Given the description of an element on the screen output the (x, y) to click on. 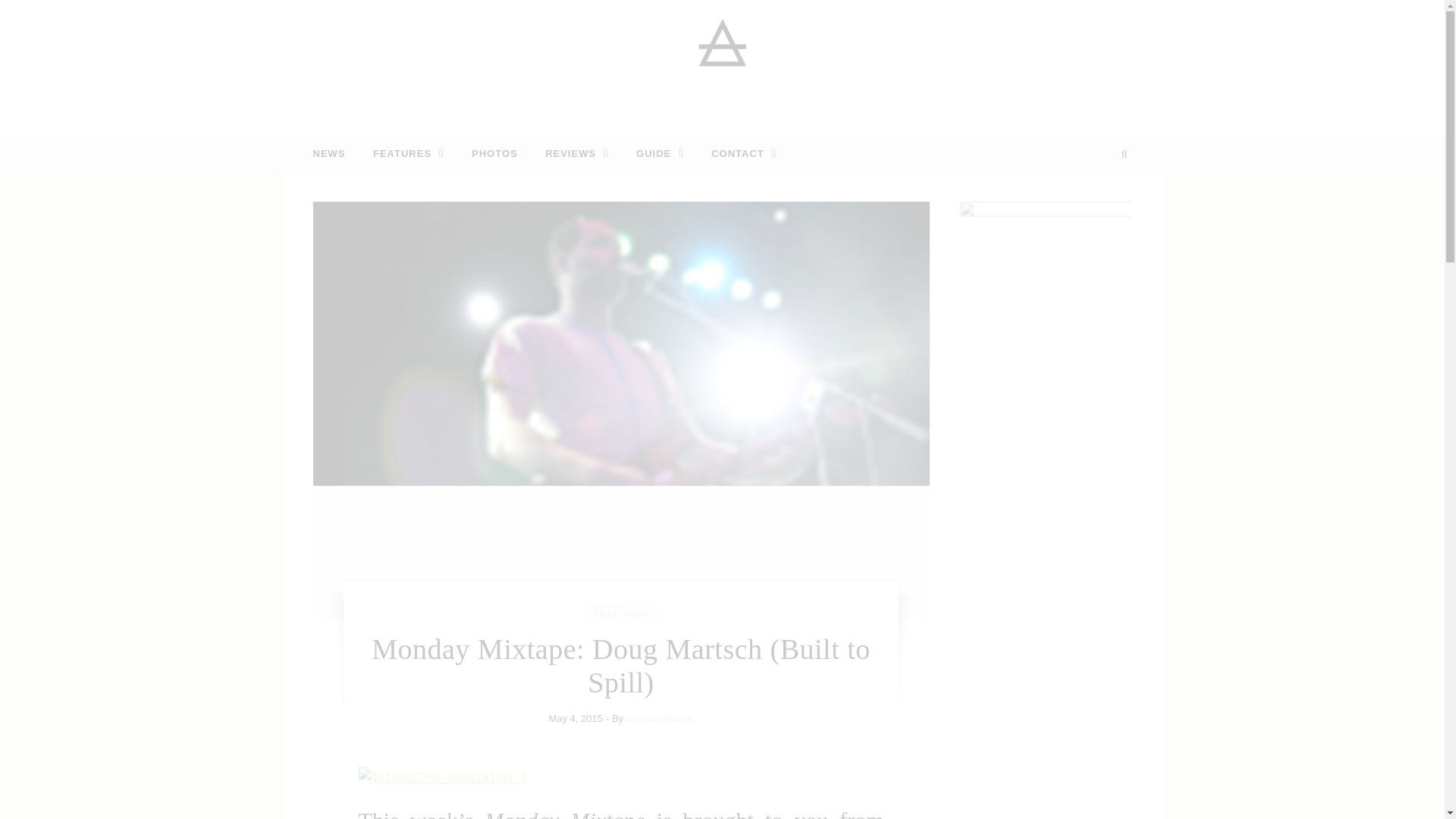
The Thin Air (722, 62)
NEWS (334, 153)
Posts by Loreana Rushe (660, 717)
REVIEWS (576, 153)
GUIDE (659, 153)
PHOTOS (494, 153)
CONTACT (737, 153)
FEATURES (409, 153)
